Given the description of an element on the screen output the (x, y) to click on. 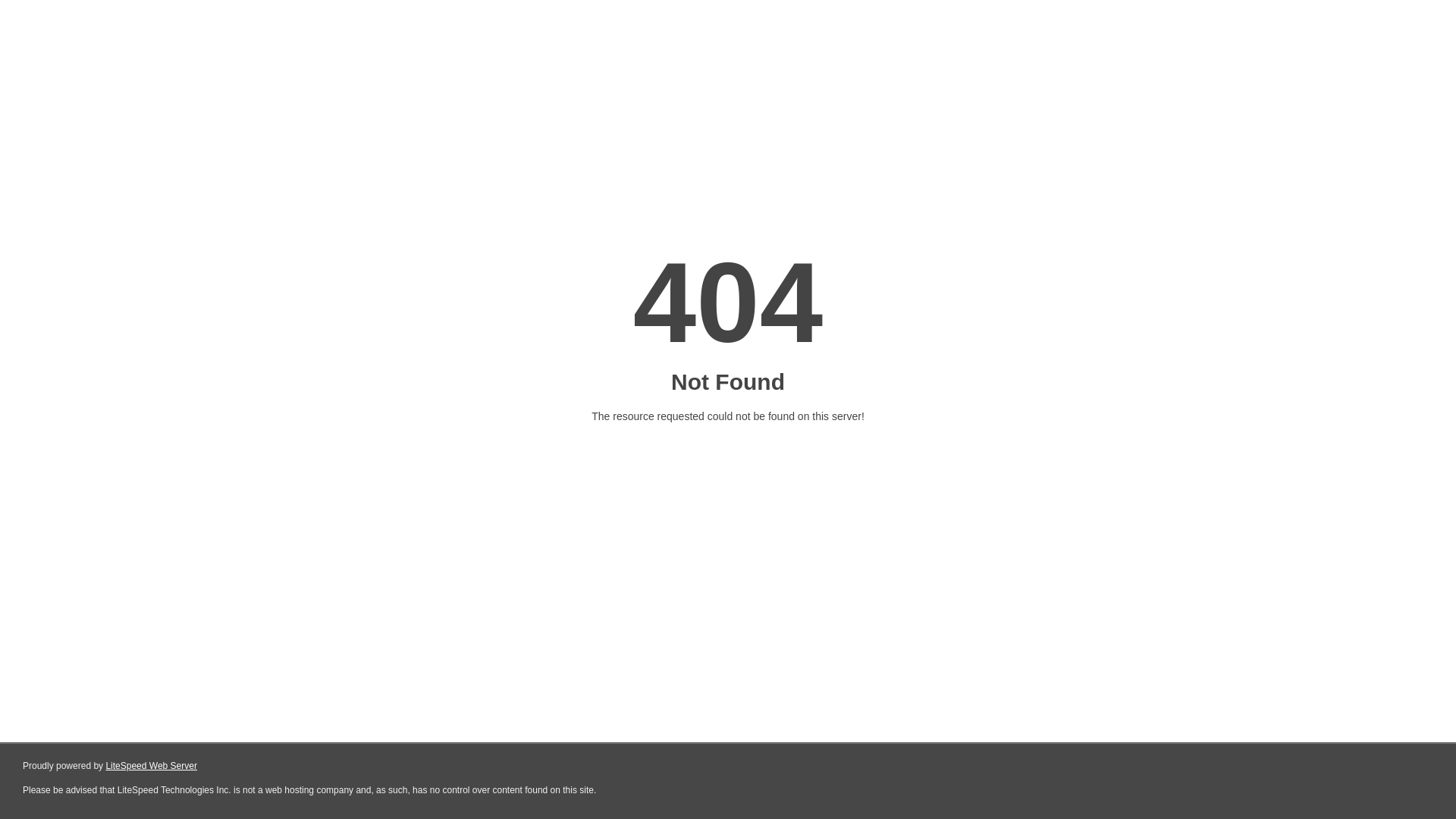
LiteSpeed Web Server Element type: text (151, 765)
